Given the description of an element on the screen output the (x, y) to click on. 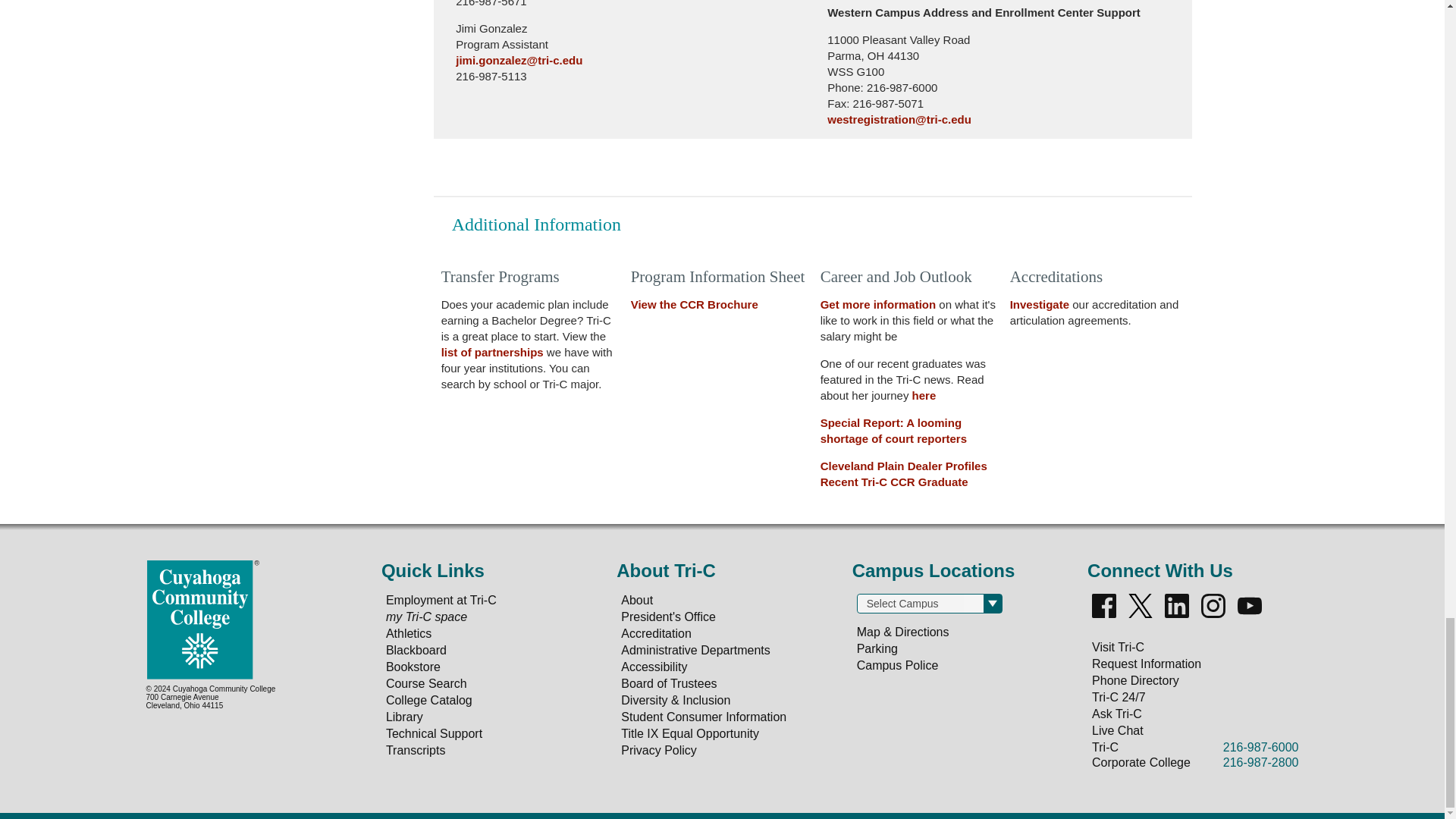
Tri-C News (924, 395)
